Given the description of an element on the screen output the (x, y) to click on. 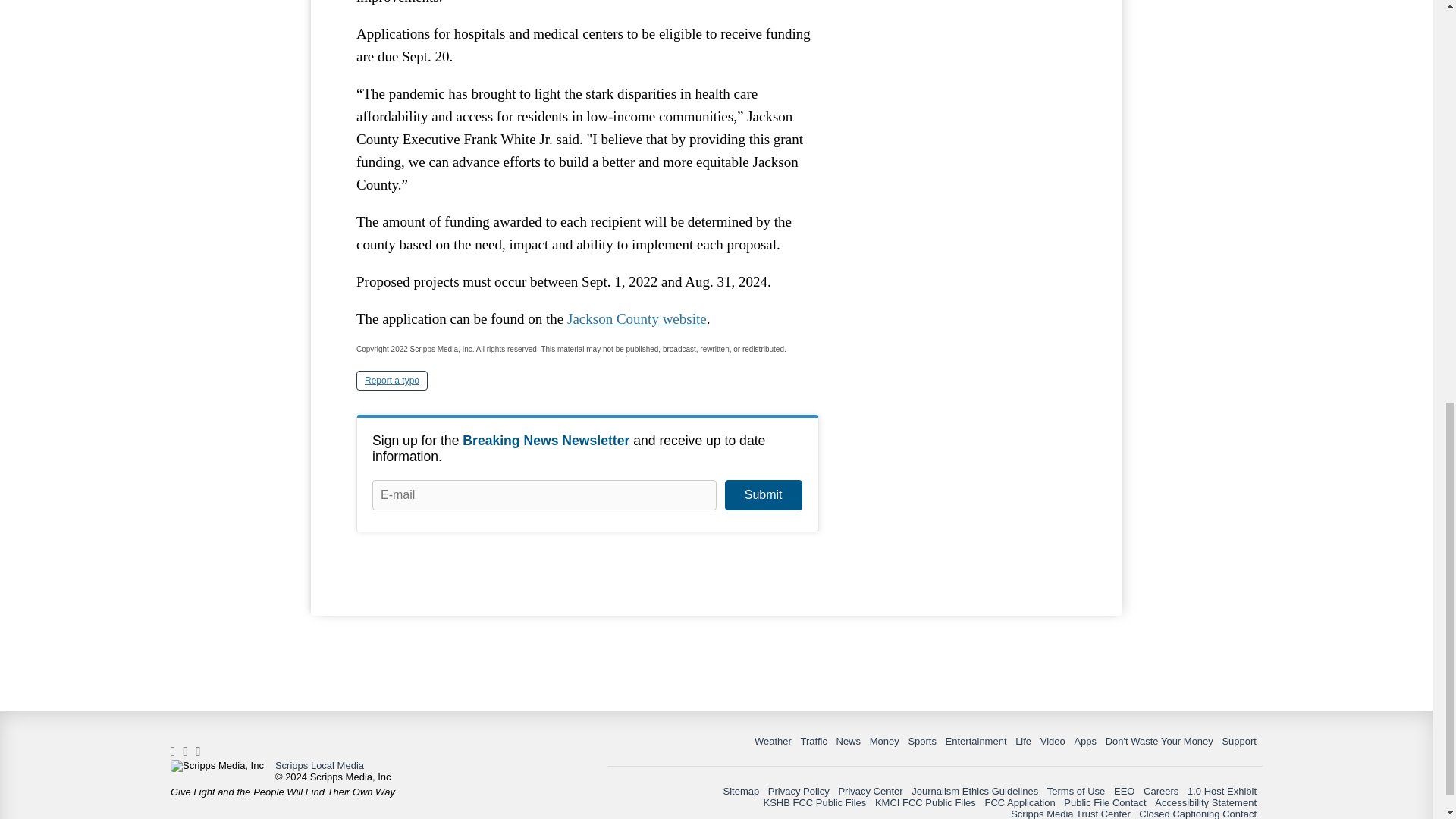
Submit (763, 494)
